Given the description of an element on the screen output the (x, y) to click on. 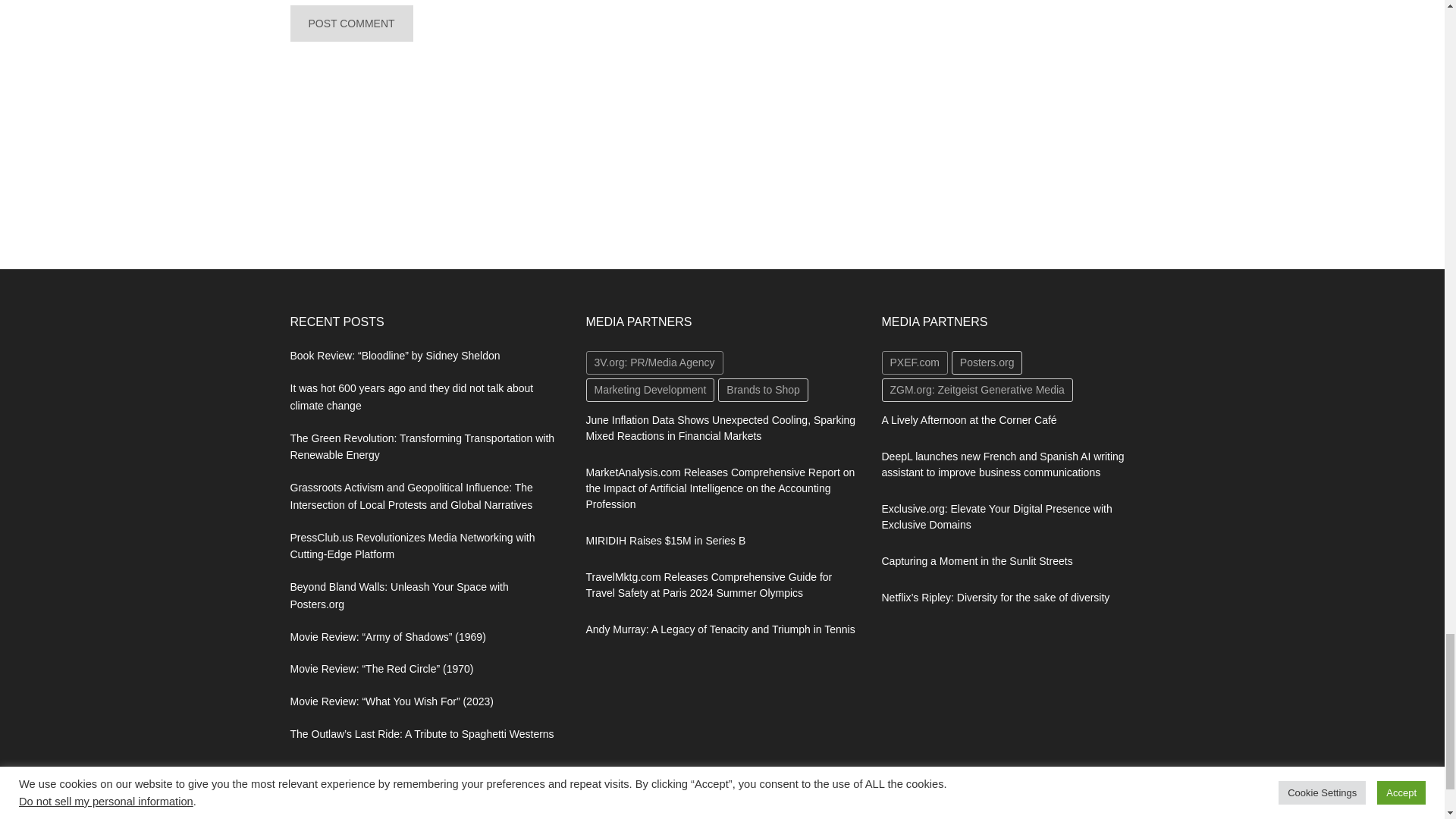
Andy Murray: A Legacy of Tenacity and Triumph in Tennis (719, 629)
Post Comment (350, 22)
Beyond Bland Walls: Unleash Your Space with Posters.org (398, 595)
Post Comment (350, 22)
Andy Murray: A Legacy of Tenacity and Triumph in Tennis (719, 629)
